Given the description of an element on the screen output the (x, y) to click on. 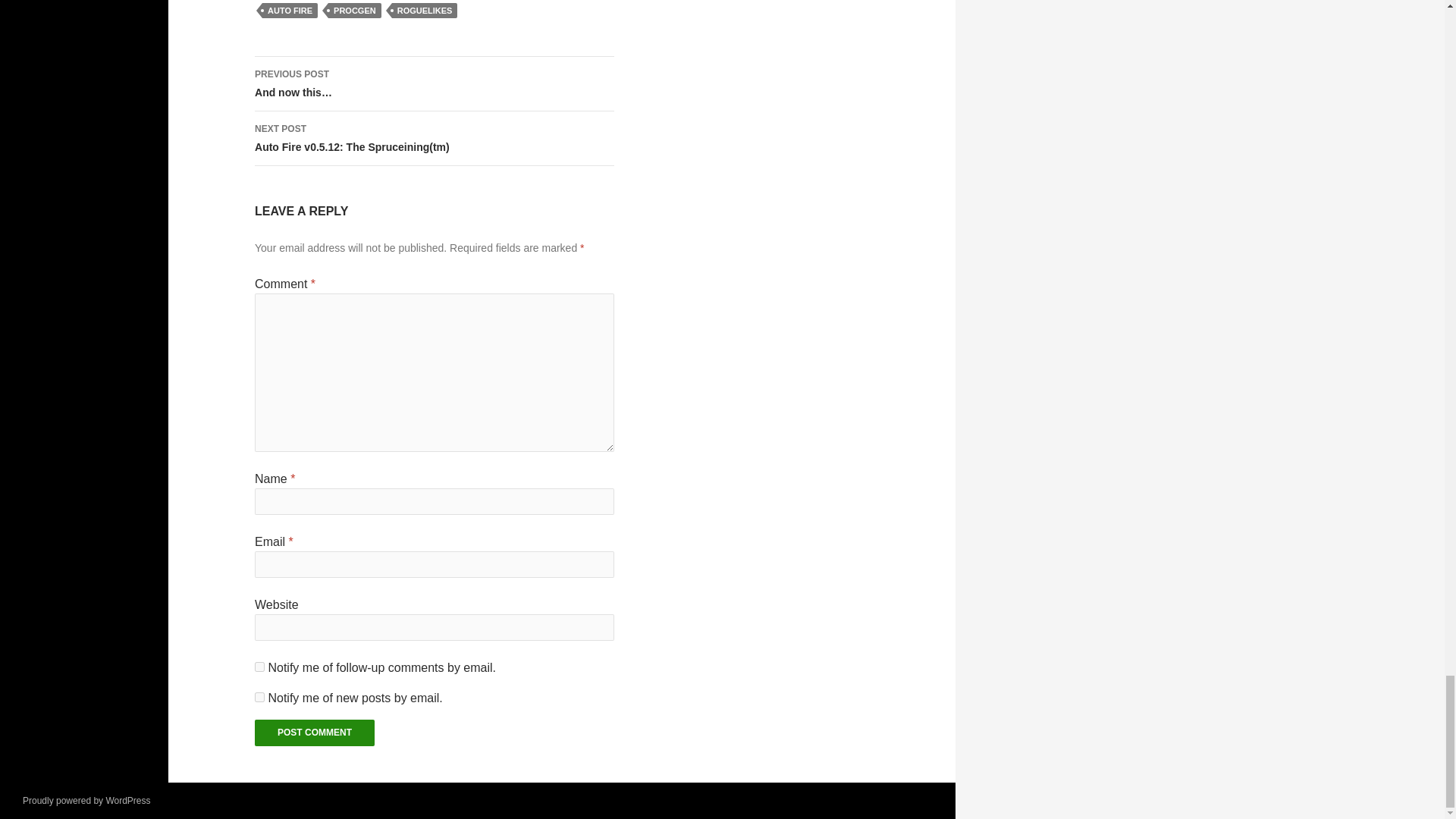
PROCGEN (355, 10)
subscribe (259, 666)
subscribe (259, 696)
AUTO FIRE (289, 10)
ROGUELIKES (424, 10)
Post Comment (314, 732)
Post Comment (314, 732)
